Given the description of an element on the screen output the (x, y) to click on. 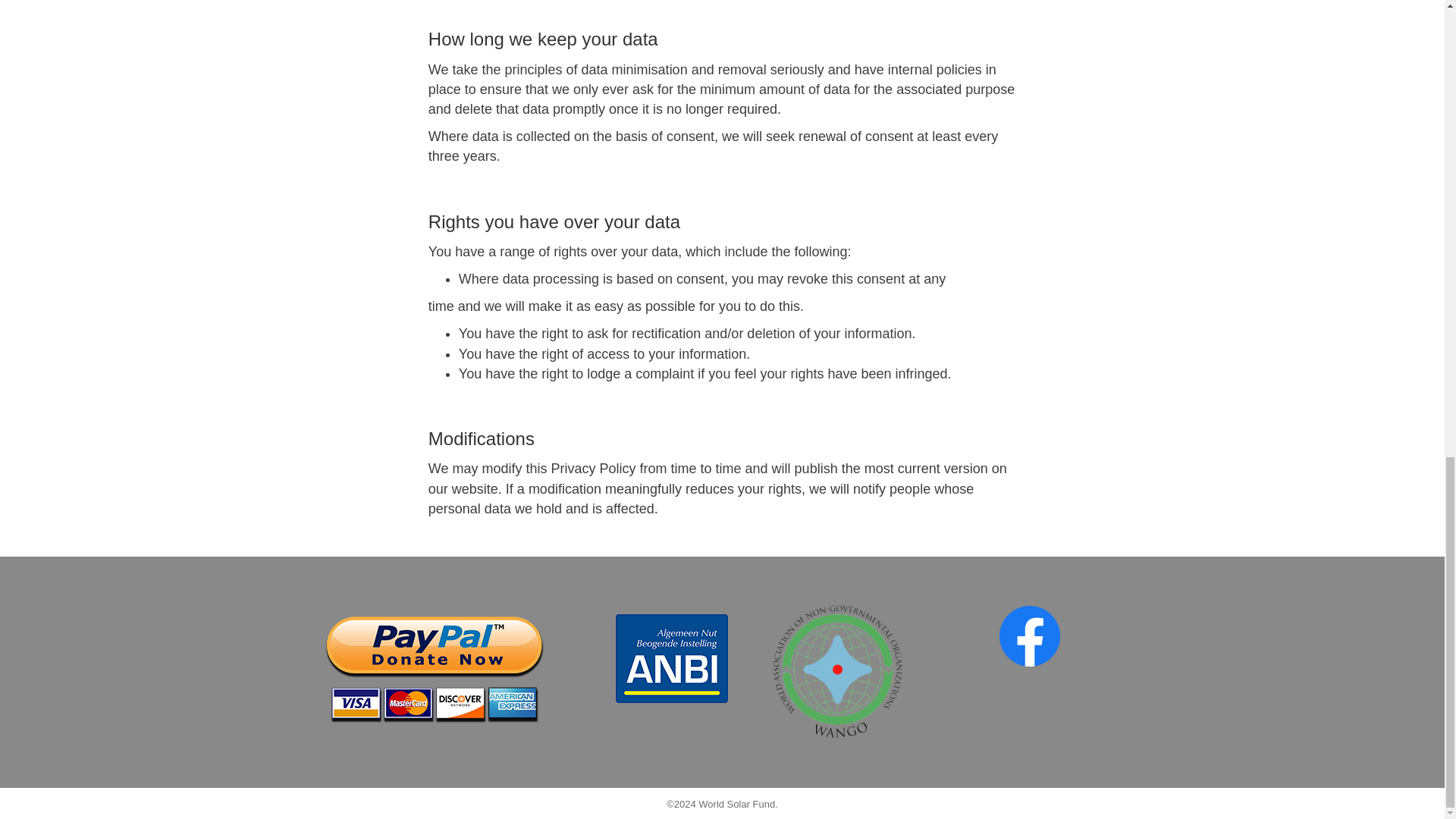
ANBI (671, 658)
wango (837, 671)
